Given the description of an element on the screen output the (x, y) to click on. 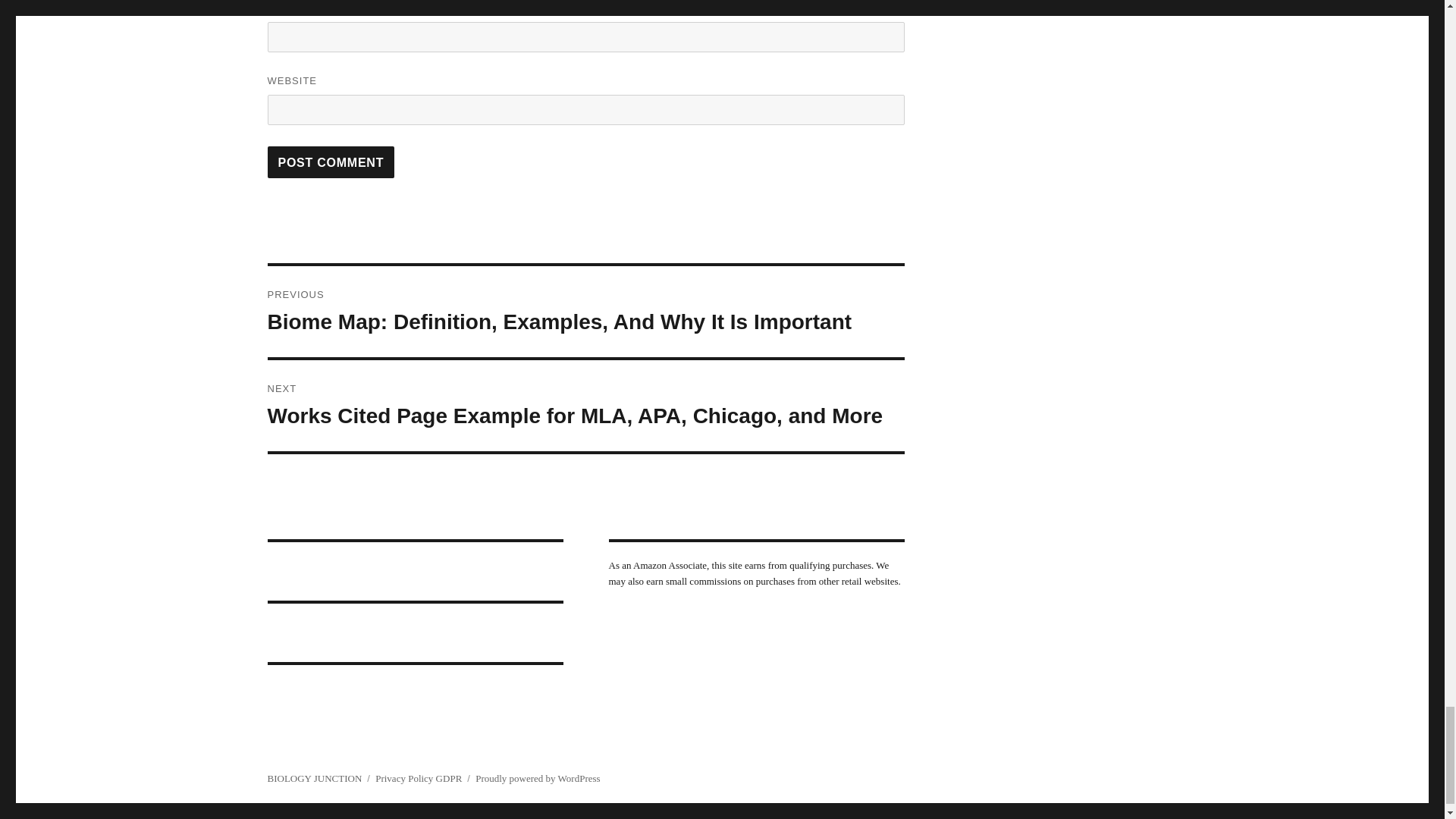
Post Comment (330, 162)
